Given the description of an element on the screen output the (x, y) to click on. 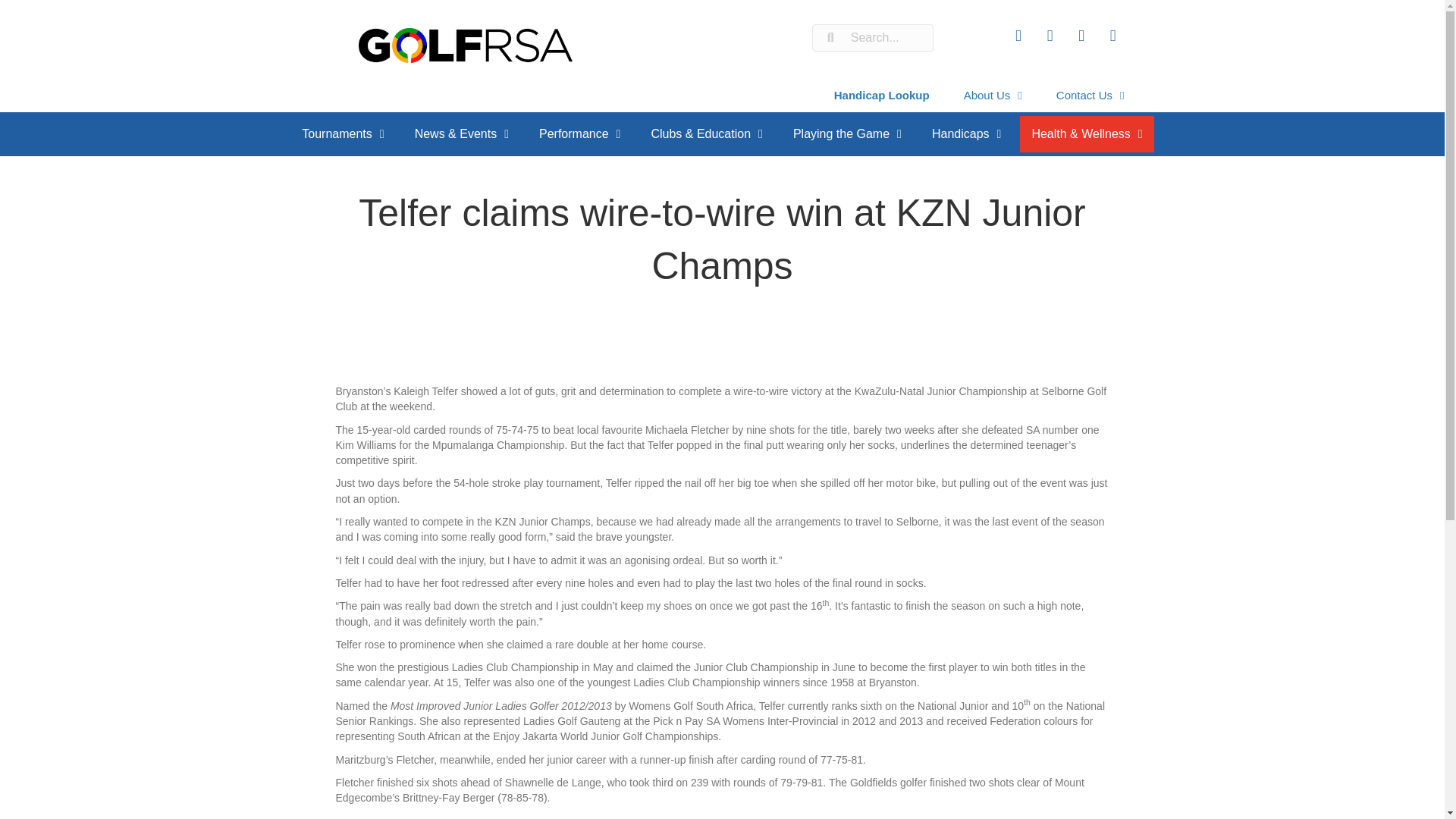
Handicap Lookup (882, 94)
About Us (992, 94)
Contact Us (1090, 94)
1 GOLF RSA primary logo on white (465, 45)
Tournaments (341, 134)
